Given the description of an element on the screen output the (x, y) to click on. 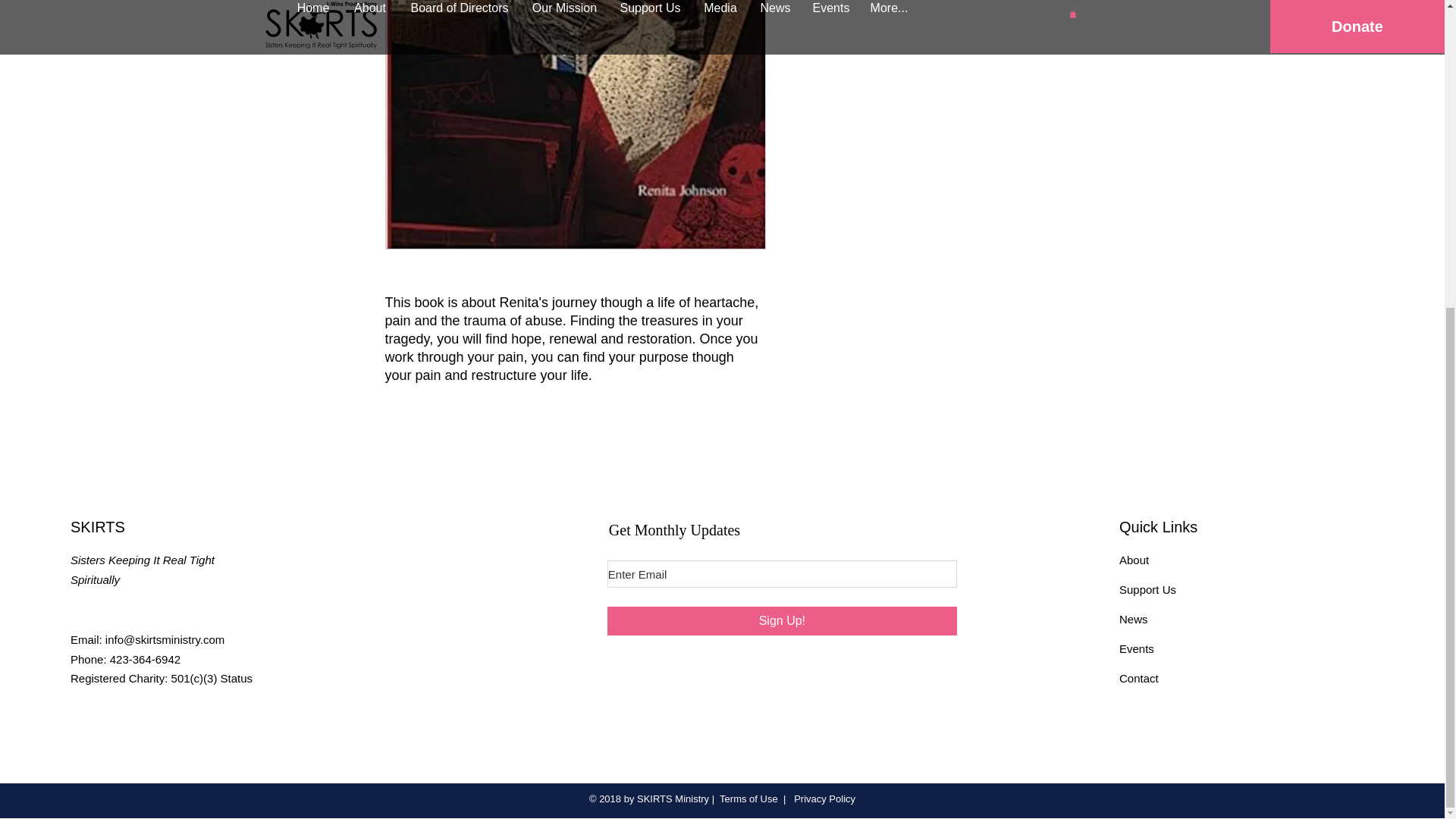
 Privacy Policy (824, 798)
Events (1136, 648)
Sign Up! (781, 620)
Terms of Use (748, 798)
News (1133, 618)
Support Us (1147, 589)
Contact (1138, 677)
About (1133, 559)
